Given the description of an element on the screen output the (x, y) to click on. 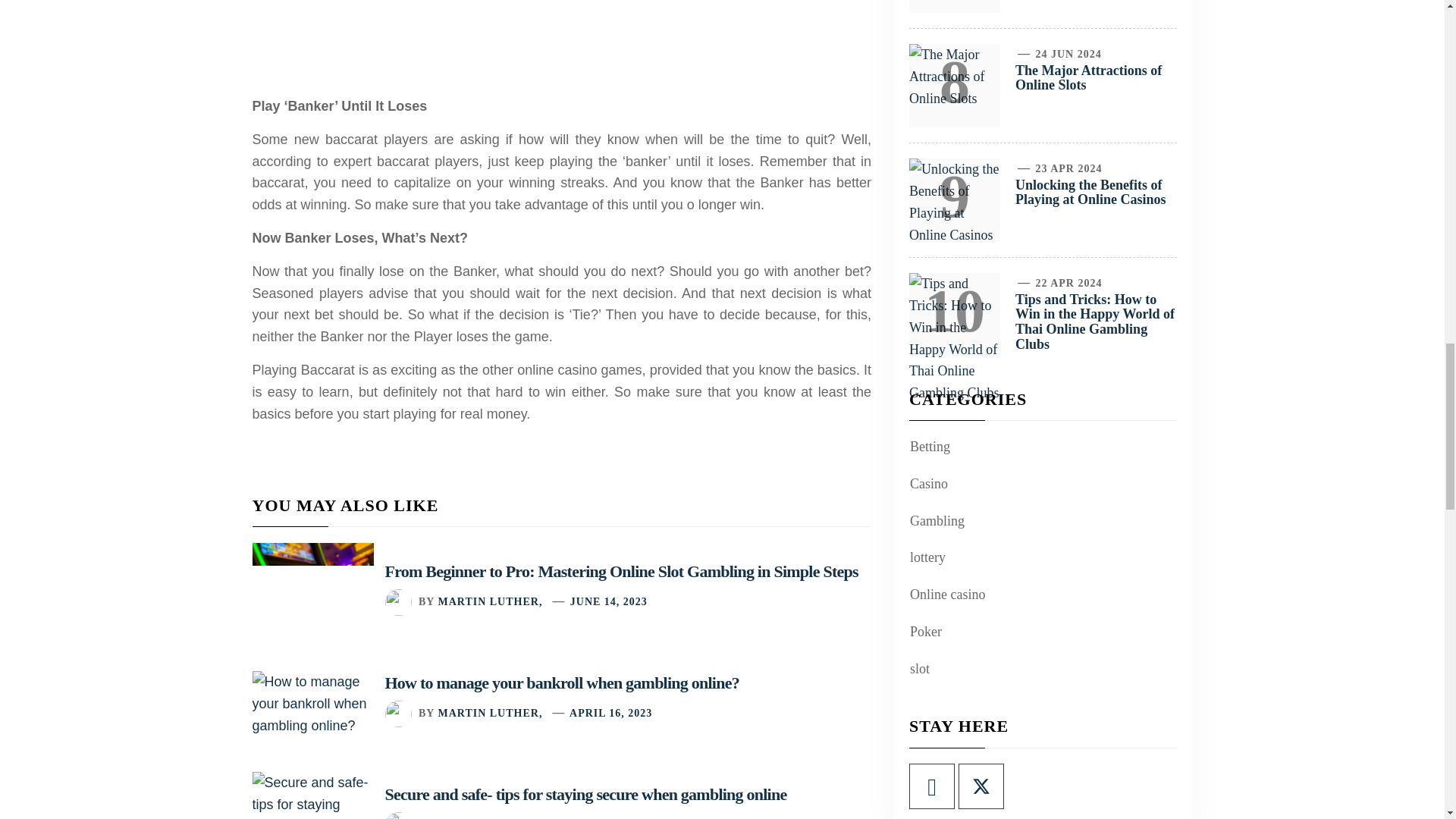
APRIL 16, 2023 (610, 713)
Online Slots Gaming Tips (561, 42)
How to manage your bankroll when gambling online? (562, 682)
JUNE 14, 2023 (608, 601)
MARTIN LUTHER, (489, 601)
MARTIN LUTHER, (489, 713)
